Given the description of an element on the screen output the (x, y) to click on. 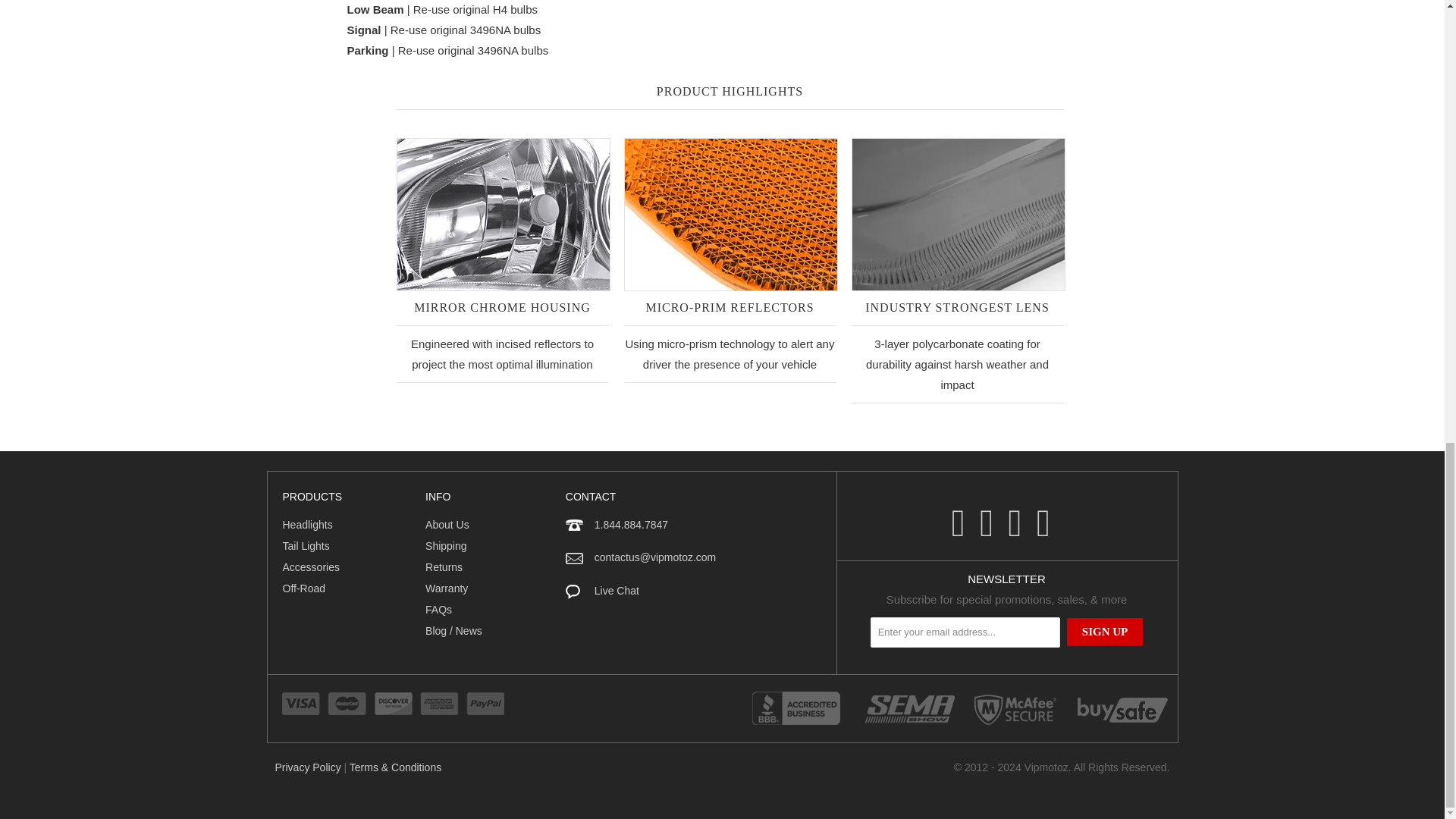
Sign Up (1104, 632)
